Given the description of an element on the screen output the (x, y) to click on. 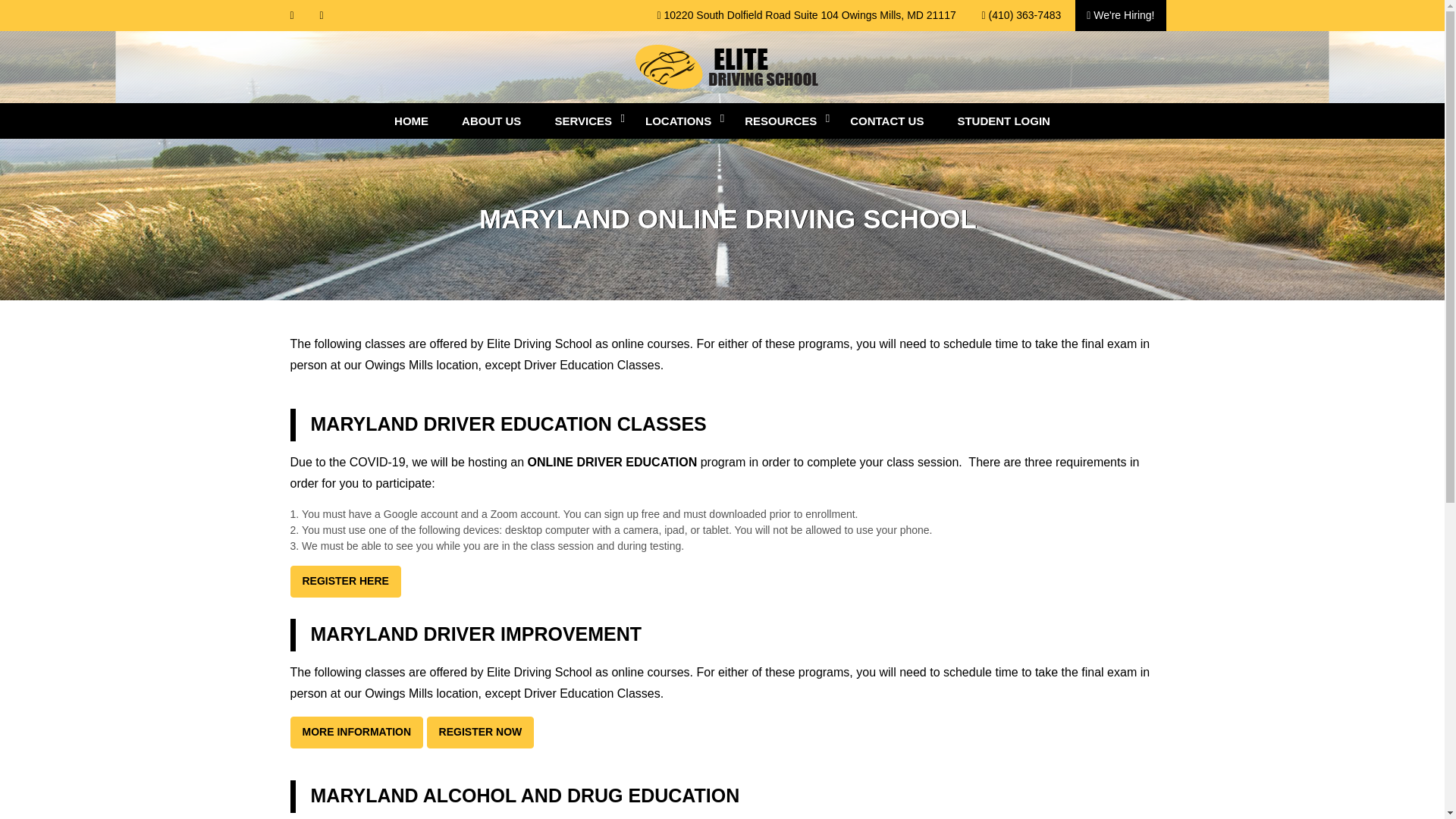
RESOURCES (780, 120)
ABOUT US (491, 120)
10220 South Dolfield Road Suite 104 Owings Mills, MD 21117 (805, 15)
LOCATIONS (678, 120)
We're Hiring! (1120, 15)
MORE INFORMATION (356, 732)
HOME (411, 120)
REGISTER HERE (344, 581)
STUDENT LOGIN (1003, 120)
SERVICES (582, 120)
